Given the description of an element on the screen output the (x, y) to click on. 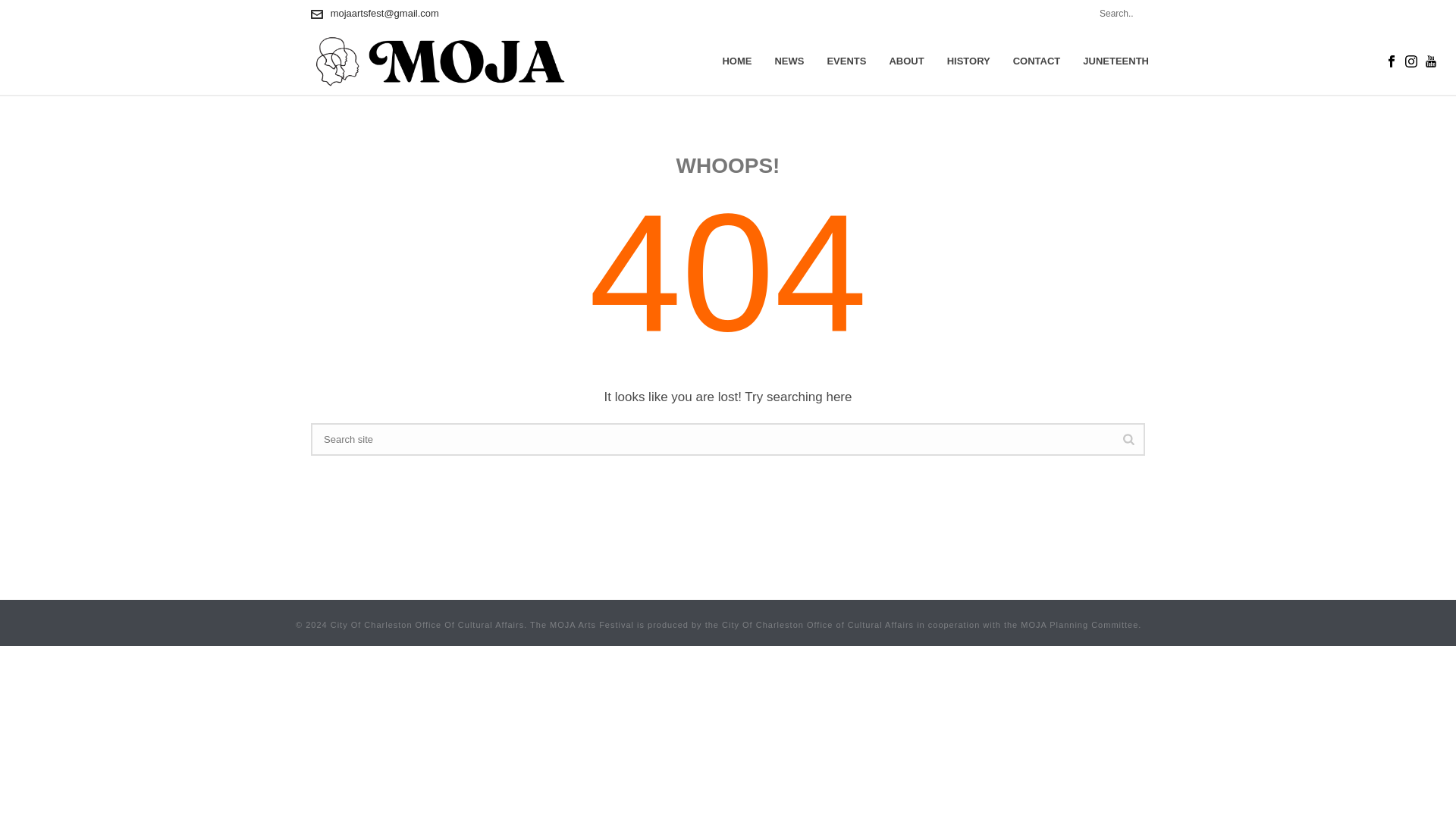
JUNETEENTH (1115, 61)
ABOUT (905, 61)
JUNETEENTH (1115, 61)
EVENTS (846, 61)
HOME (736, 61)
CONTACT (1036, 61)
HISTORY (968, 61)
ABOUT (905, 61)
NEWS (788, 61)
HOME (736, 61)
